Given the description of an element on the screen output the (x, y) to click on. 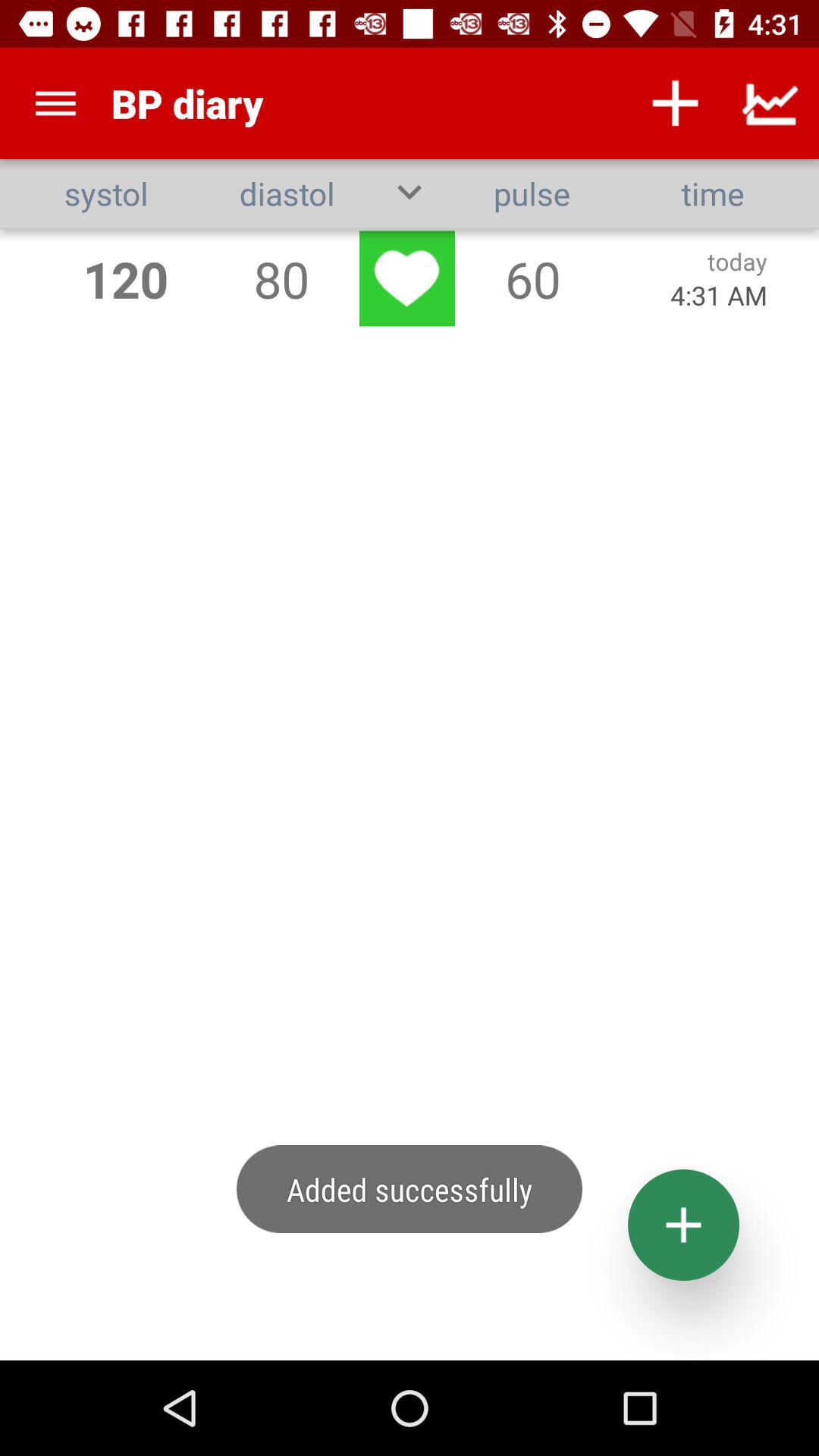
swipe until the 80 item (281, 278)
